Given the description of an element on the screen output the (x, y) to click on. 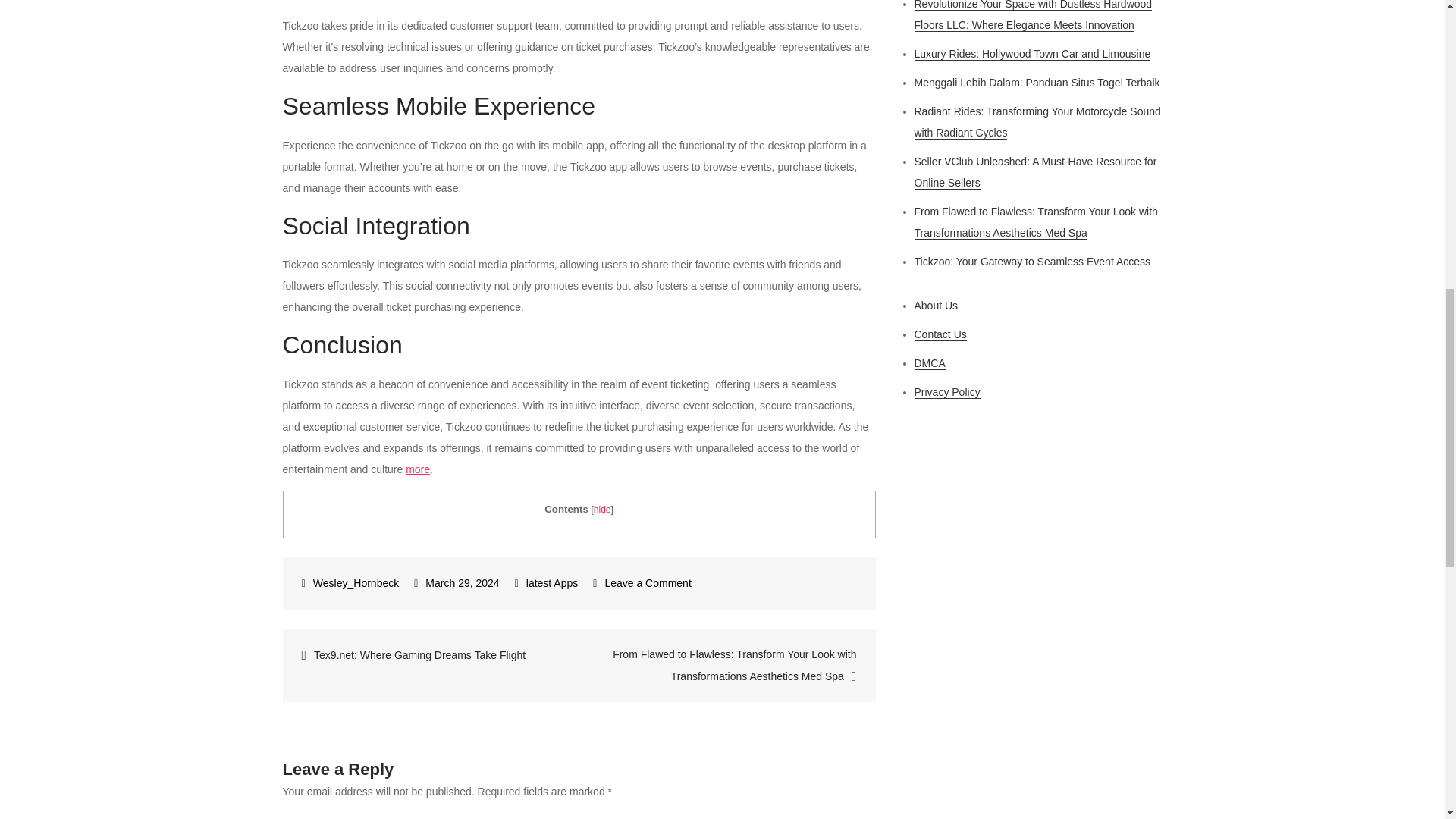
March 29, 2024 (456, 582)
hide (602, 509)
Tex9.net: Where Gaming Dreams Take Flight (430, 654)
latest Apps (551, 582)
more (417, 469)
